Given the description of an element on the screen output the (x, y) to click on. 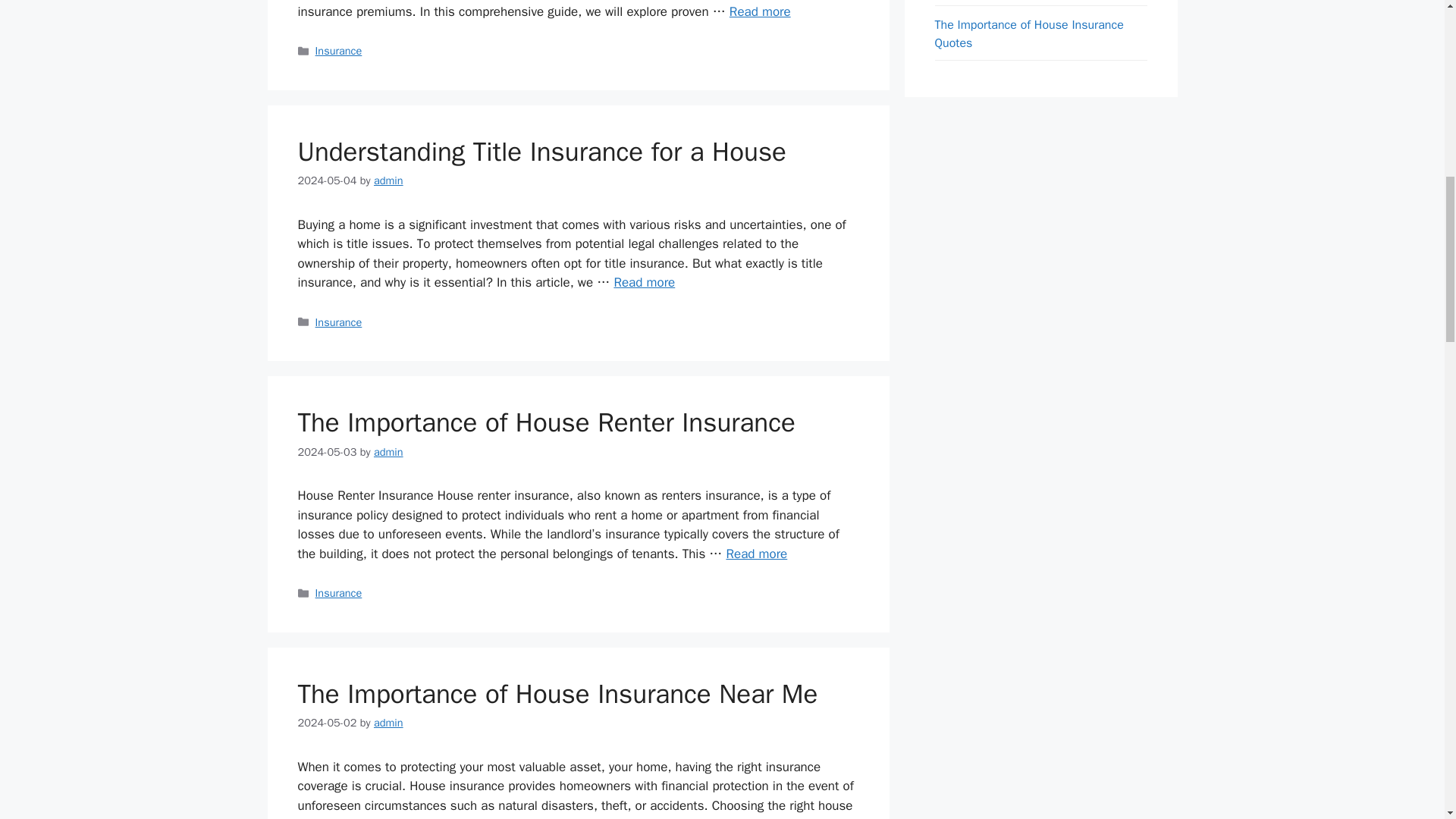
View all posts by admin (388, 722)
Read more (759, 11)
View all posts by admin (388, 451)
The Importance of House Insurance Near Me (556, 693)
Insurance (338, 322)
Understanding Title Insurance for a House (541, 151)
Insurance (338, 592)
Understanding Title Insurance for a House (643, 282)
The Ultimate Guide to Finding Cheap House Insurance (759, 11)
admin (388, 451)
Read more (750, 817)
The Importance of House Insurance Near Me (750, 817)
admin (388, 722)
The Importance of House Renter Insurance (756, 553)
View all posts by admin (388, 180)
